Given the description of an element on the screen output the (x, y) to click on. 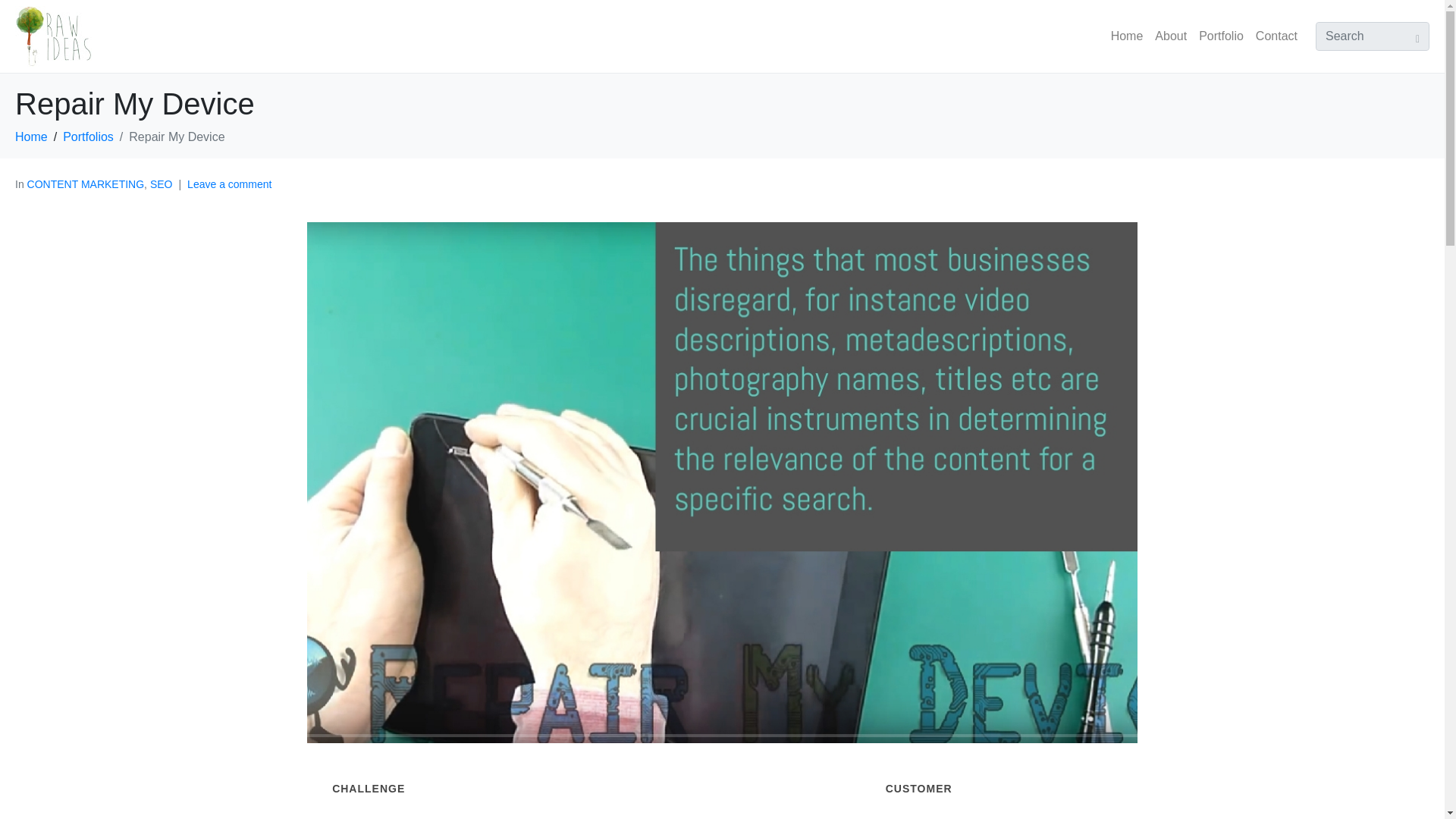
Home (1127, 36)
Home (31, 136)
About (1170, 36)
Leave a comment (228, 184)
CONTENT MARKETING (85, 184)
SEO (161, 184)
Portfolios (87, 136)
Contact (1276, 36)
Portfolio (1220, 36)
